Given the description of an element on the screen output the (x, y) to click on. 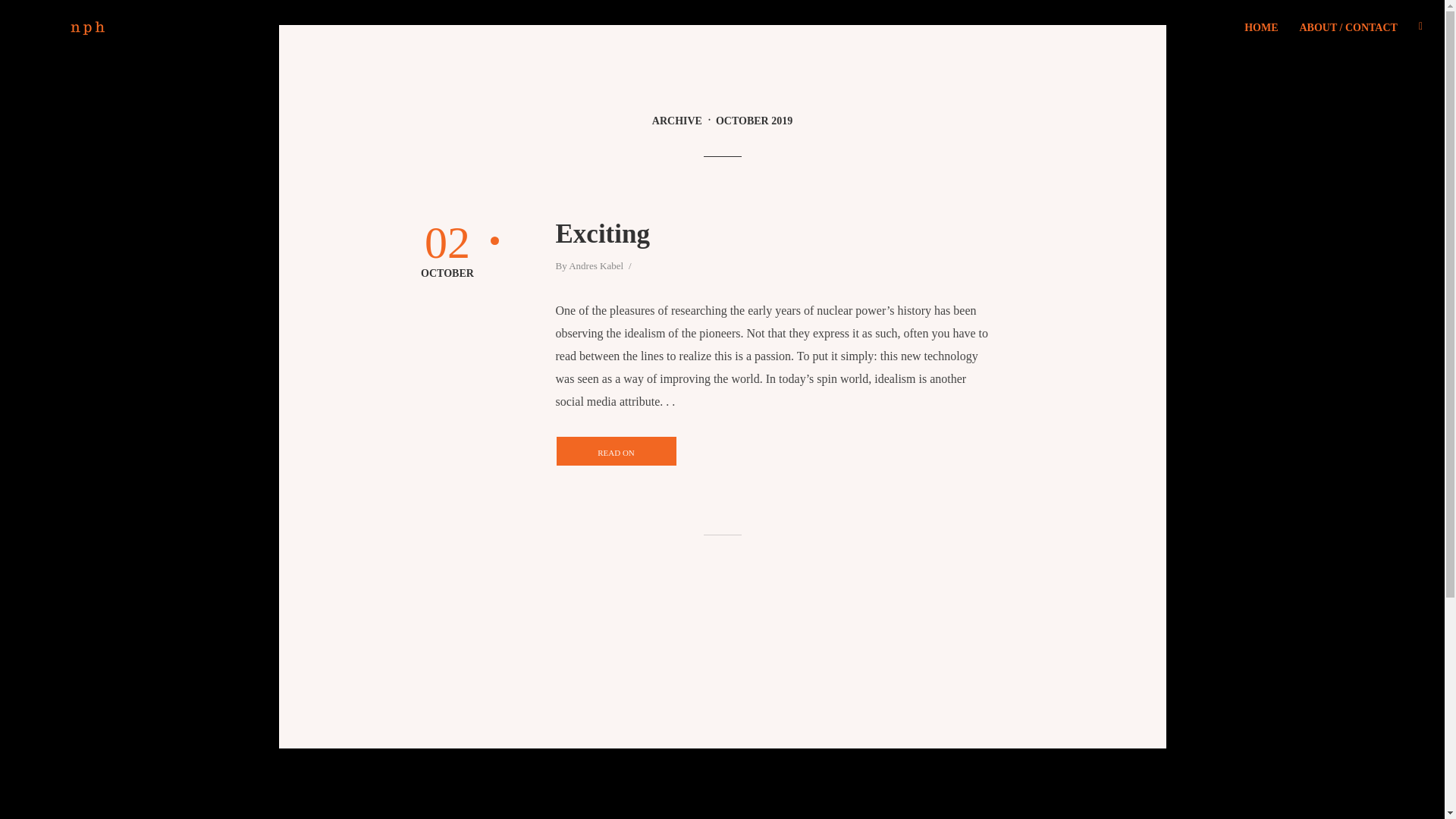
READ ON (615, 450)
Exciting (774, 233)
HOME (1260, 26)
Andres Kabel (596, 267)
